Given the description of an element on the screen output the (x, y) to click on. 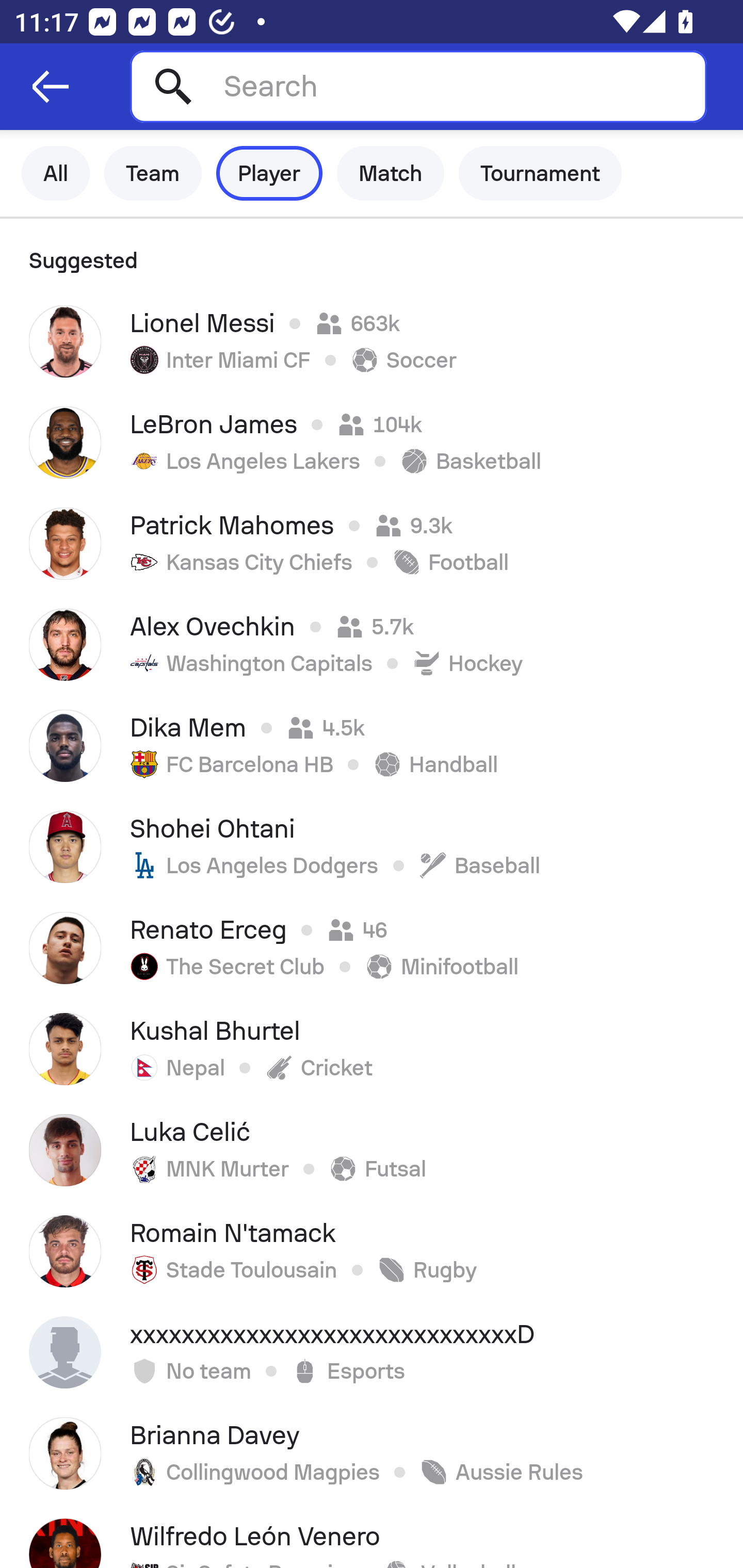
Navigate up (50, 86)
Search (418, 86)
All (55, 172)
Team (152, 172)
Player (268, 172)
Match (390, 172)
Tournament (540, 172)
Suggested (371, 254)
Lionel Messi 663k Inter Miami CF Soccer (371, 341)
LeBron James 104k Los Angeles Lakers Basketball (371, 442)
Patrick Mahomes 9.3k Kansas City Chiefs Football (371, 543)
Alex Ovechkin 5.7k Washington Capitals Hockey (371, 644)
Dika Mem 4.5k FC Barcelona HB Handball (371, 745)
Shohei Ohtani Los Angeles Dodgers Baseball (371, 846)
Renato Erceg 46 The Secret Club Minifootball (371, 947)
Kushal Bhurtel Nepal Cricket (371, 1048)
Luka Celić MNK Murter Futsal (371, 1150)
Romain N'tamack Stade Toulousain Rugby (371, 1251)
xxxxxxxxxxxxxxxxxxxxxxxxxxxxxxD No team Esports (371, 1352)
Brianna Davey Collingwood Magpies Aussie Rules (371, 1453)
